Given the description of an element on the screen output the (x, y) to click on. 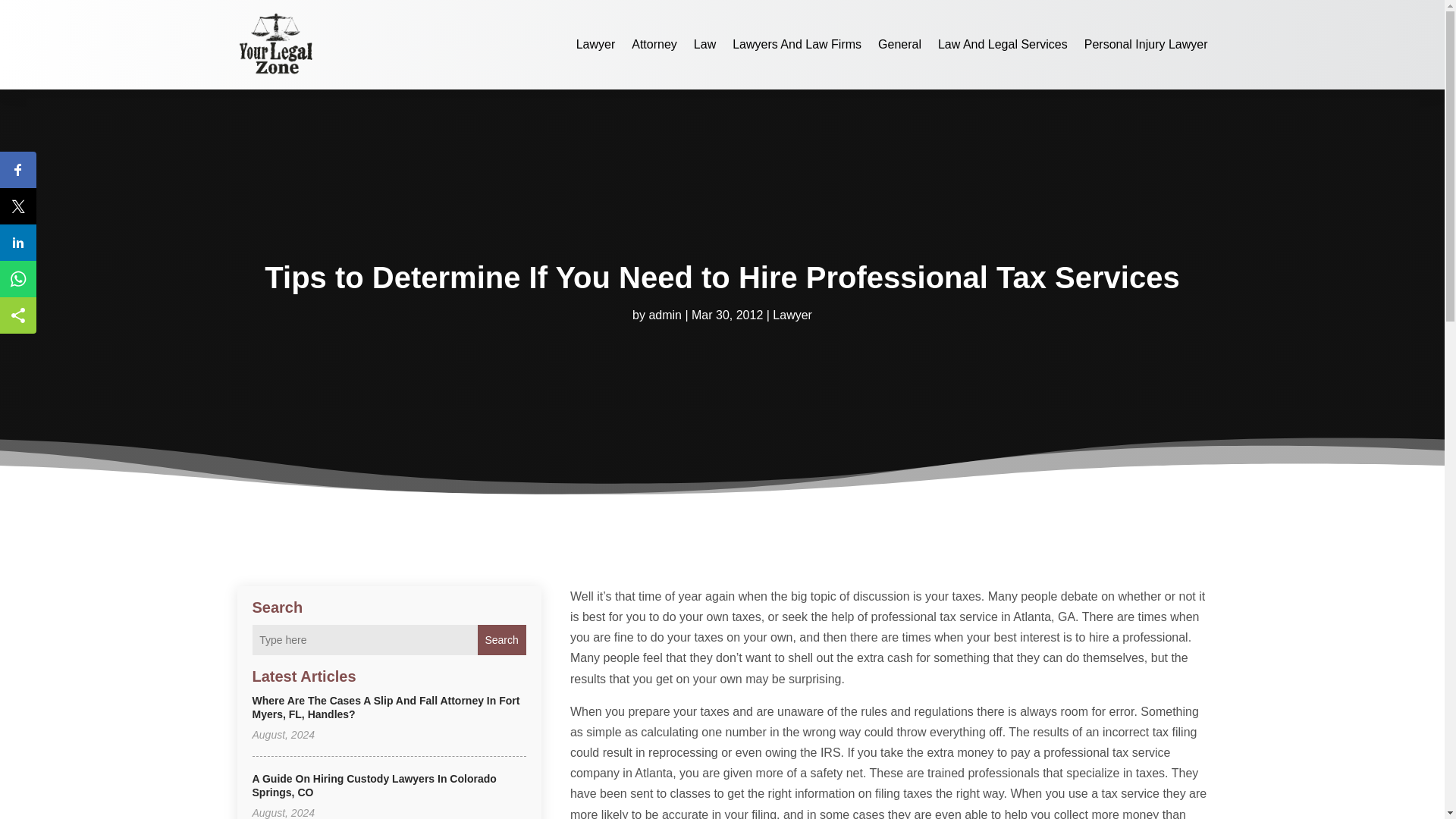
admin (664, 314)
A Guide On Hiring Custody Lawyers In Colorado Springs, CO (373, 785)
Law And Legal Services (1002, 44)
Posts by admin (664, 314)
Search (501, 639)
Personal Injury Lawyer (1146, 44)
Lawyer (792, 314)
Lawyers And Law Firms (796, 44)
